Given the description of an element on the screen output the (x, y) to click on. 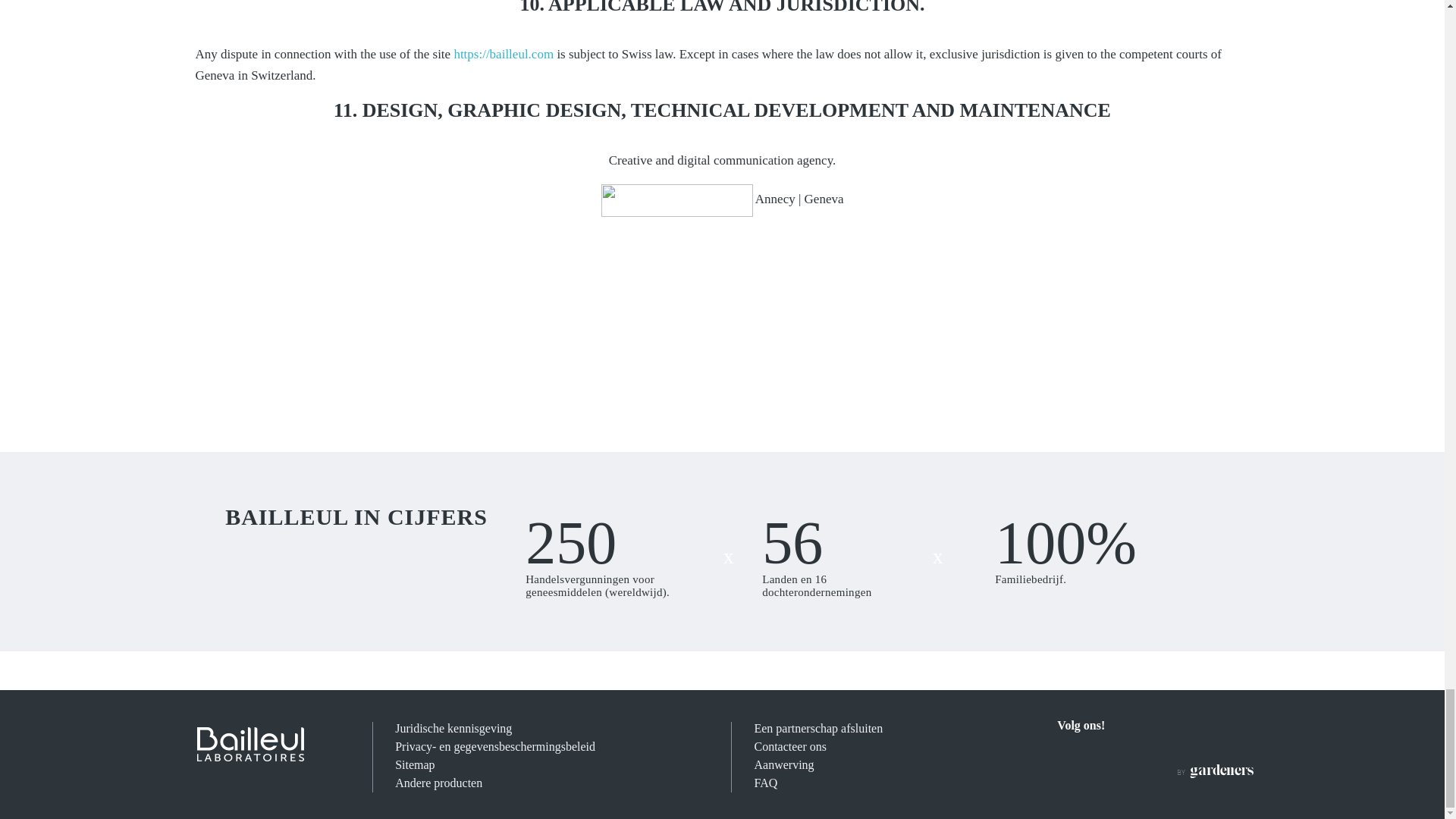
De weg kwijt? Vinden wat u zoekt (413, 764)
Neem contact met ons op via ons formulier (790, 746)
